Given the description of an element on the screen output the (x, y) to click on. 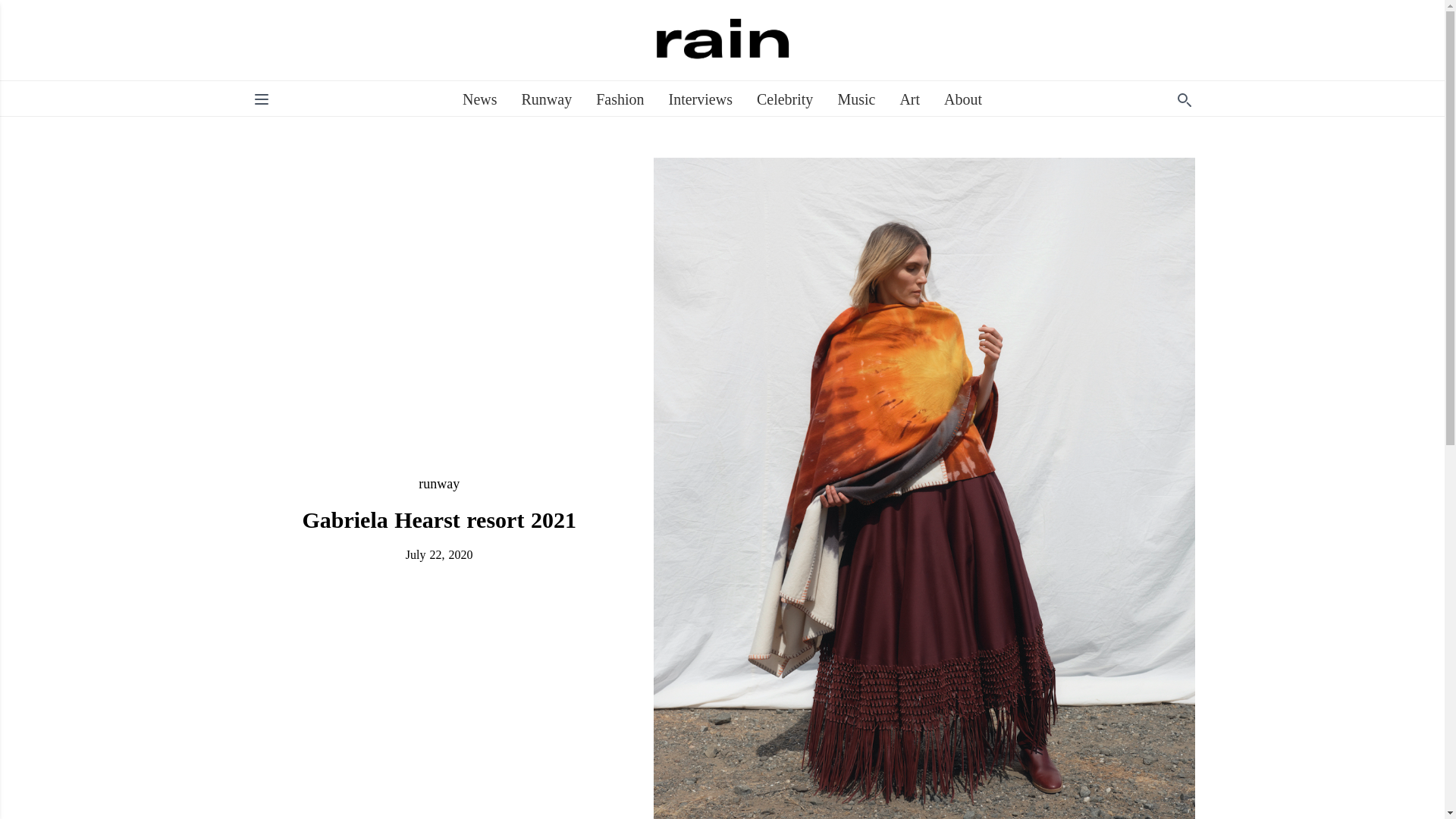
Runway (546, 99)
News (480, 99)
Fashion (619, 99)
About (962, 99)
Interviews (700, 99)
Music (856, 99)
runway (439, 483)
Celebrity (784, 99)
